Given the description of an element on the screen output the (x, y) to click on. 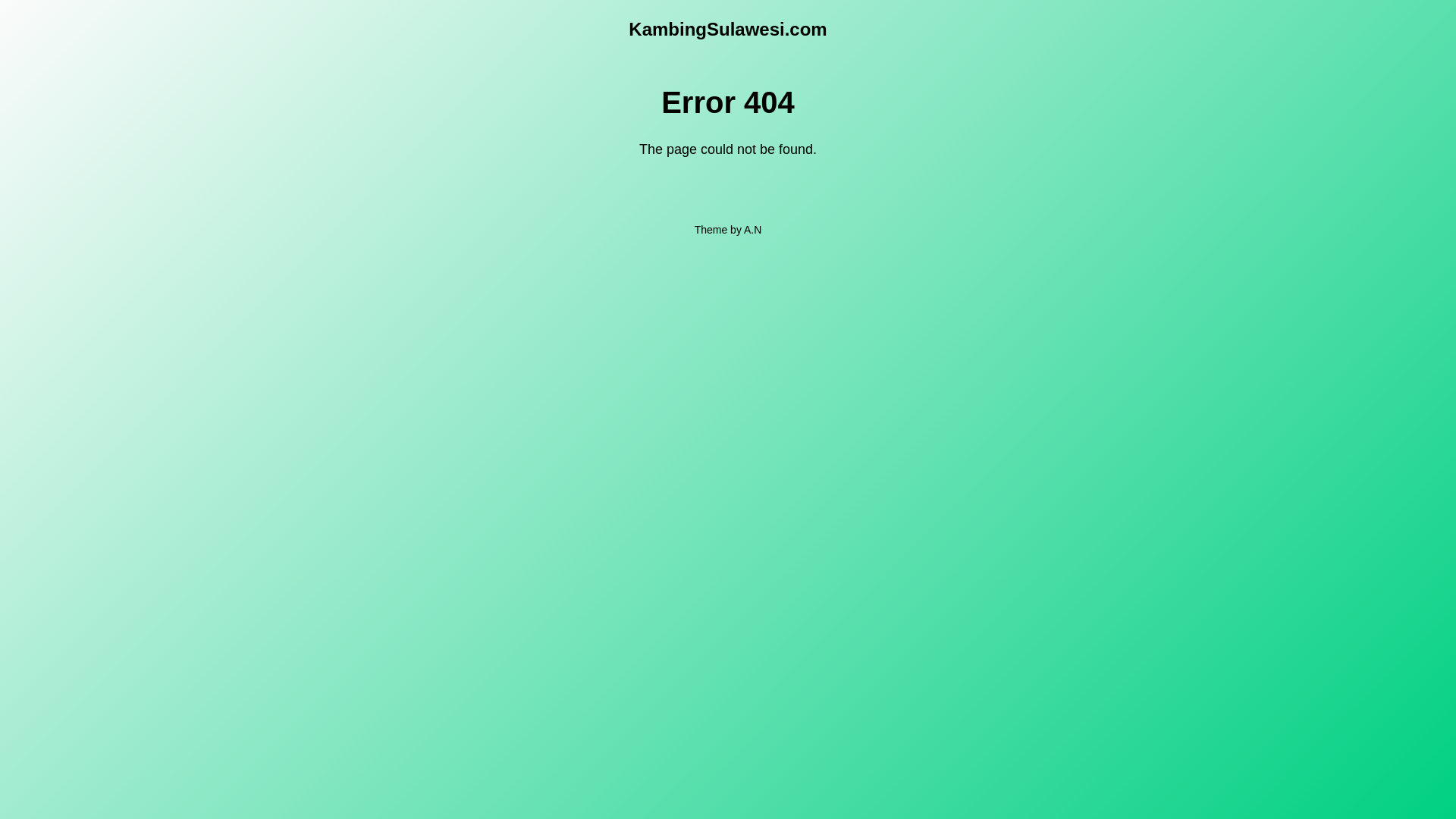
KambingSulawesi.com (727, 28)
